Given the description of an element on the screen output the (x, y) to click on. 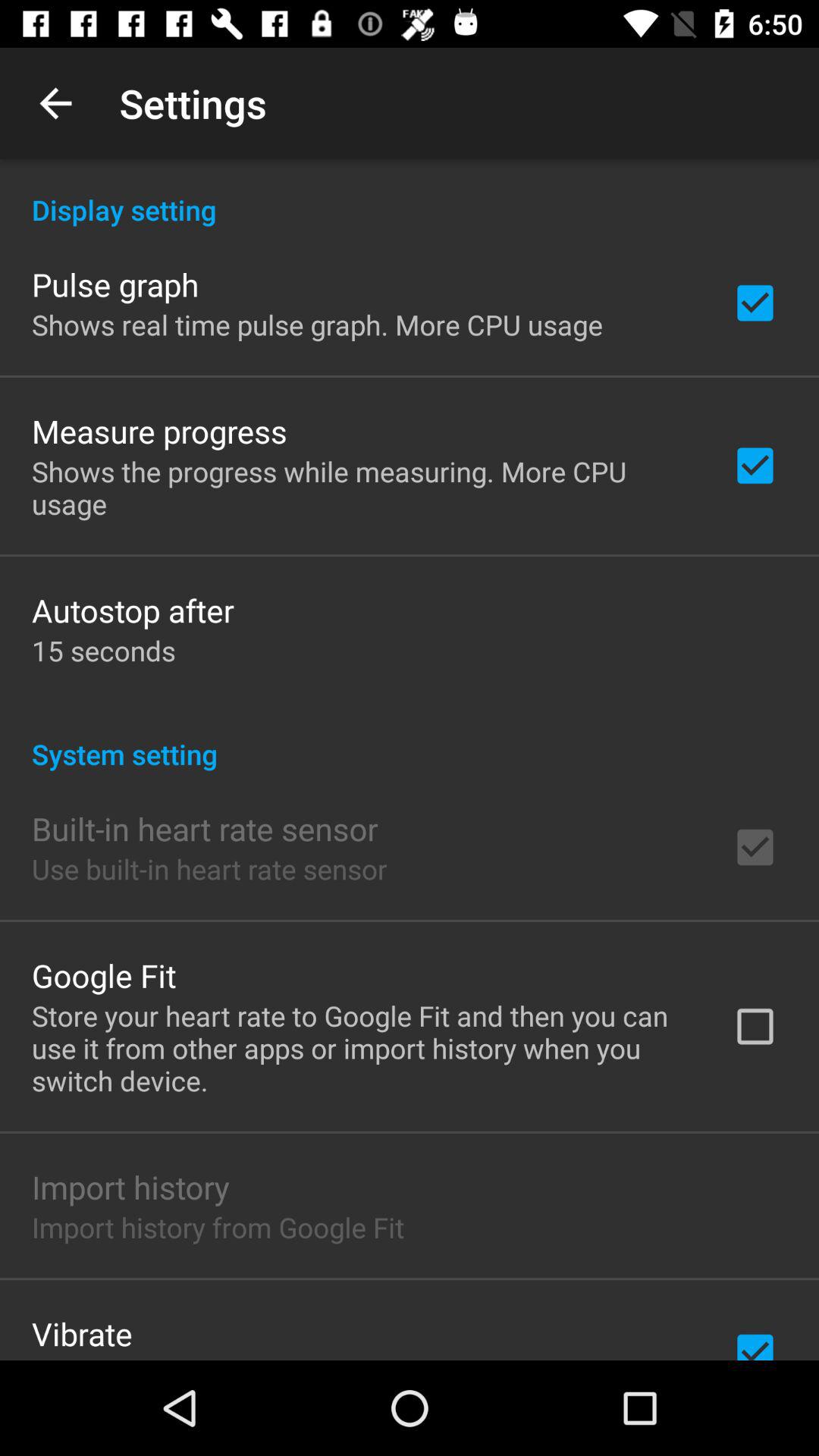
flip until 15 seconds item (103, 650)
